Given the description of an element on the screen output the (x, y) to click on. 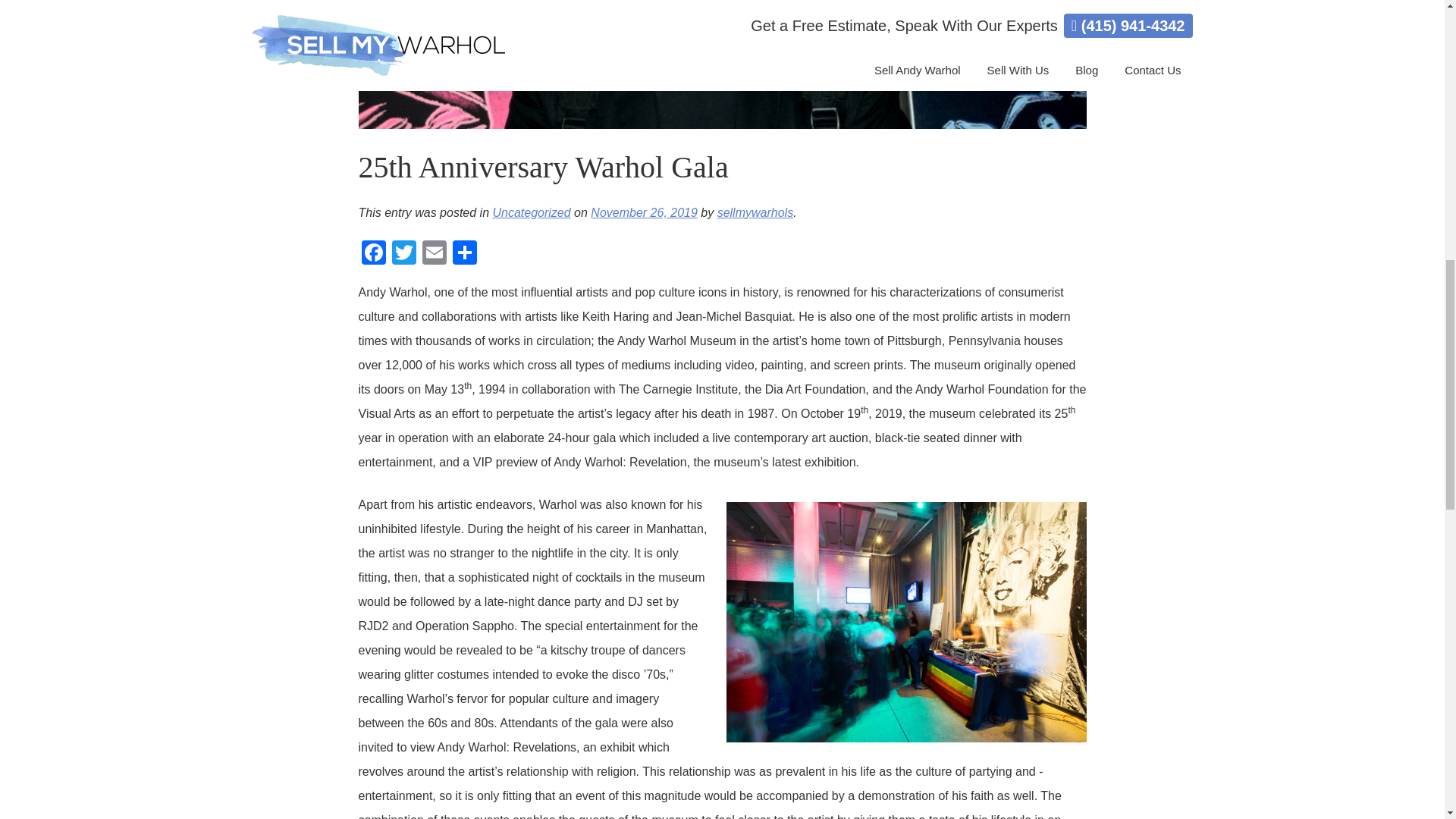
sellmywarhols (755, 212)
View all posts by sellmywarhols (755, 212)
Twitter (403, 253)
November 26, 2019 (644, 212)
Facebook (373, 253)
Facebook (373, 253)
3:02 pm (644, 212)
Email (433, 253)
Twitter (403, 253)
Uncategorized (531, 212)
Email (433, 253)
Share (463, 253)
